Given the description of an element on the screen output the (x, y) to click on. 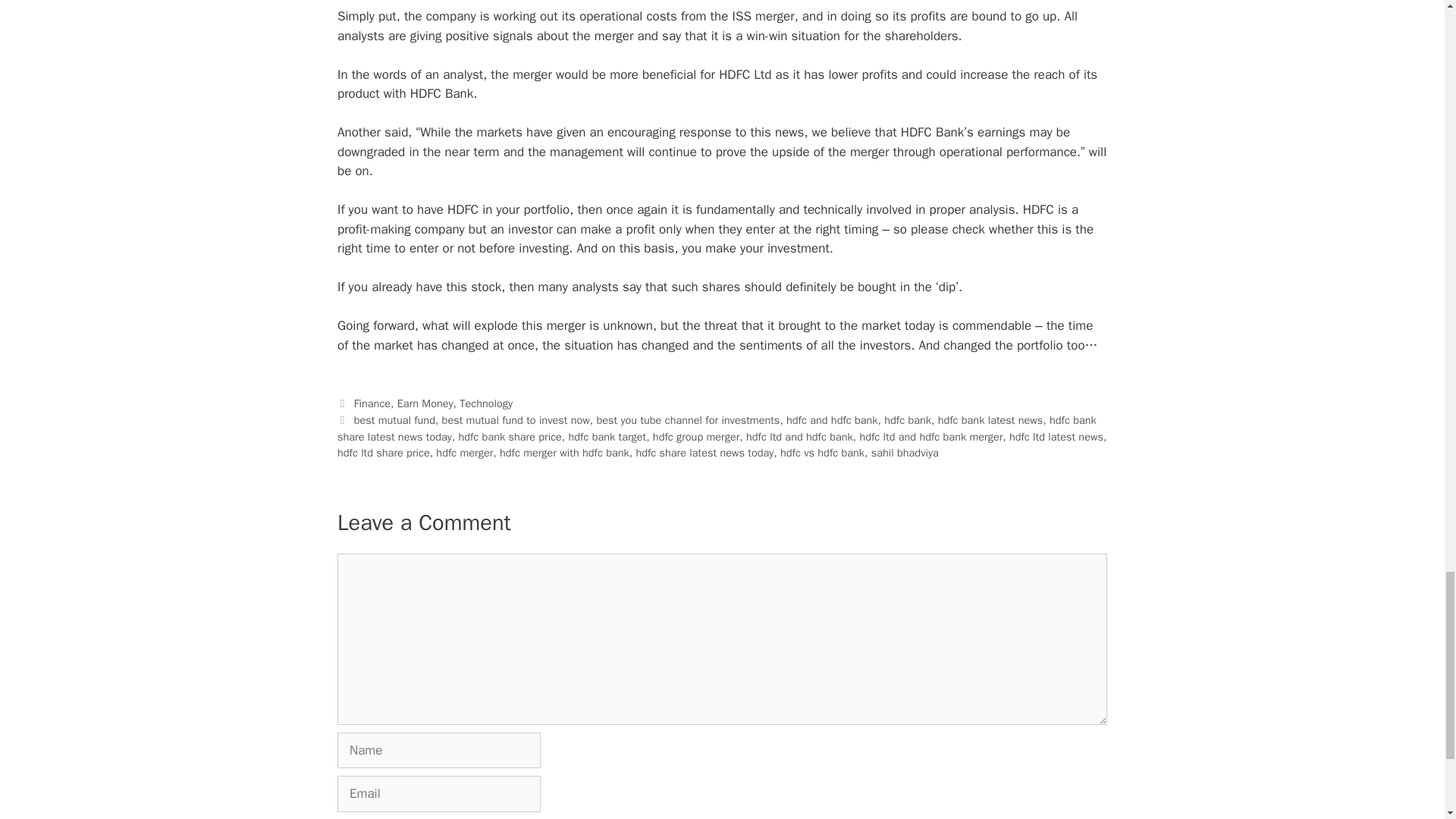
best mutual fund to invest now (515, 419)
Earn Money (424, 403)
Technology (486, 403)
hdfc bank share latest news today (716, 428)
Finance (371, 403)
hdfc bank (907, 419)
hdfc bank latest news (990, 419)
hdfc and hdfc bank (831, 419)
best mutual fund (394, 419)
best you tube channel for investments (686, 419)
